Given the description of an element on the screen output the (x, y) to click on. 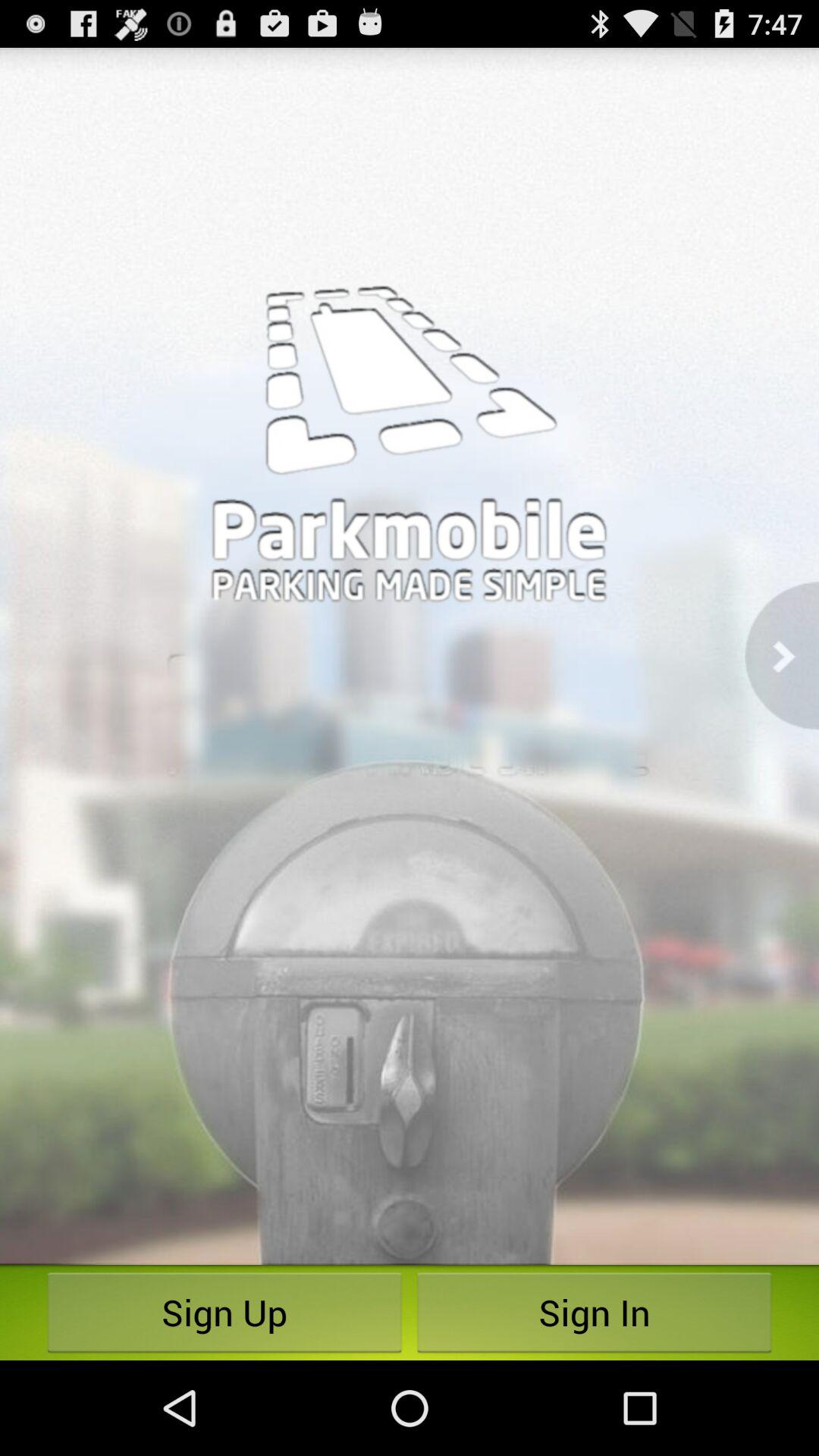
turn on the icon at the bottom right corner (594, 1312)
